Given the description of an element on the screen output the (x, y) to click on. 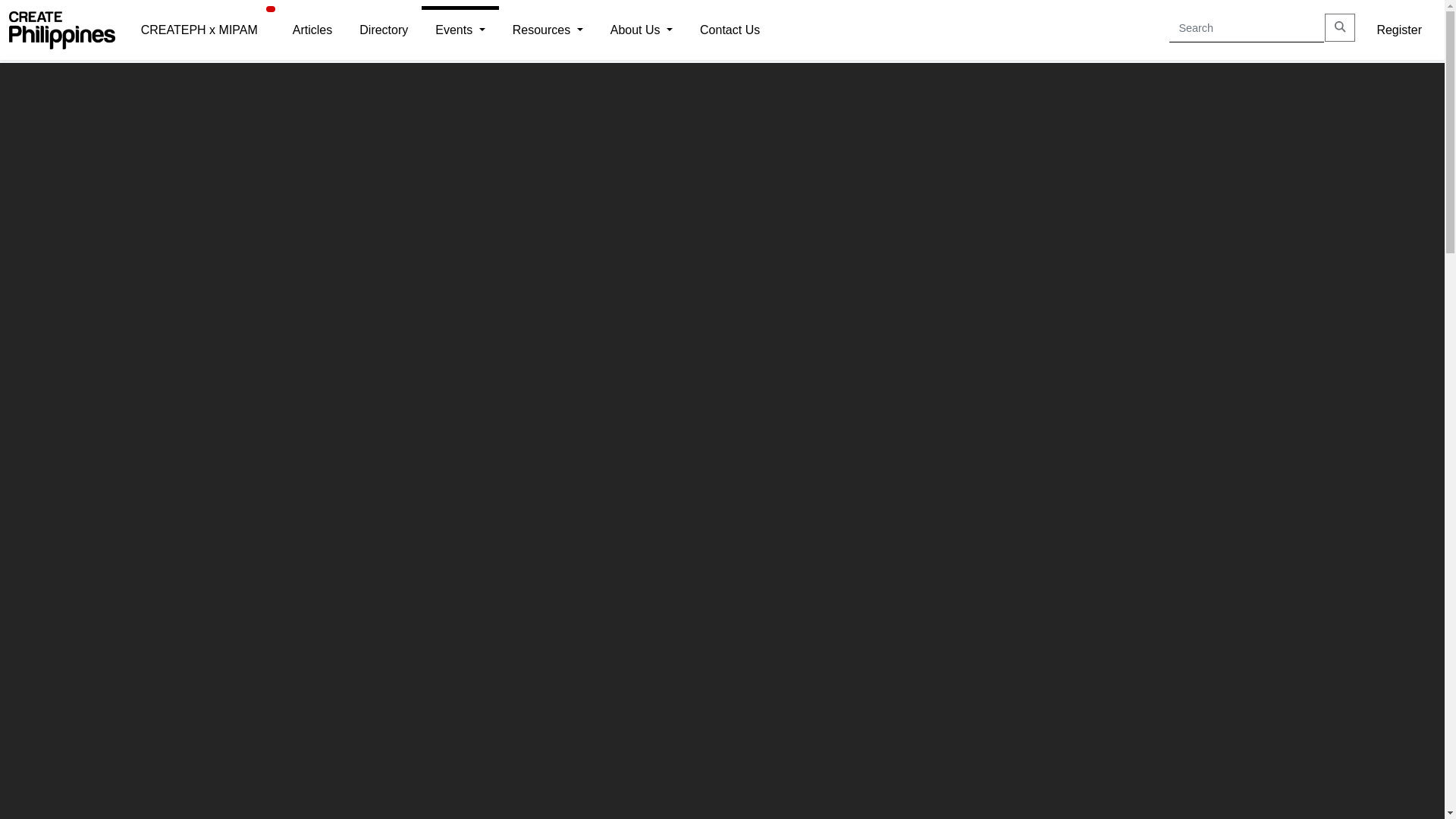
Articles (311, 29)
Register (1399, 29)
Directory (383, 29)
Events (459, 29)
CREATEPH x MIPAM (199, 29)
About Us (641, 29)
Resources (547, 29)
CREATEPhilippines (61, 29)
Contact Us (729, 29)
